Given the description of an element on the screen output the (x, y) to click on. 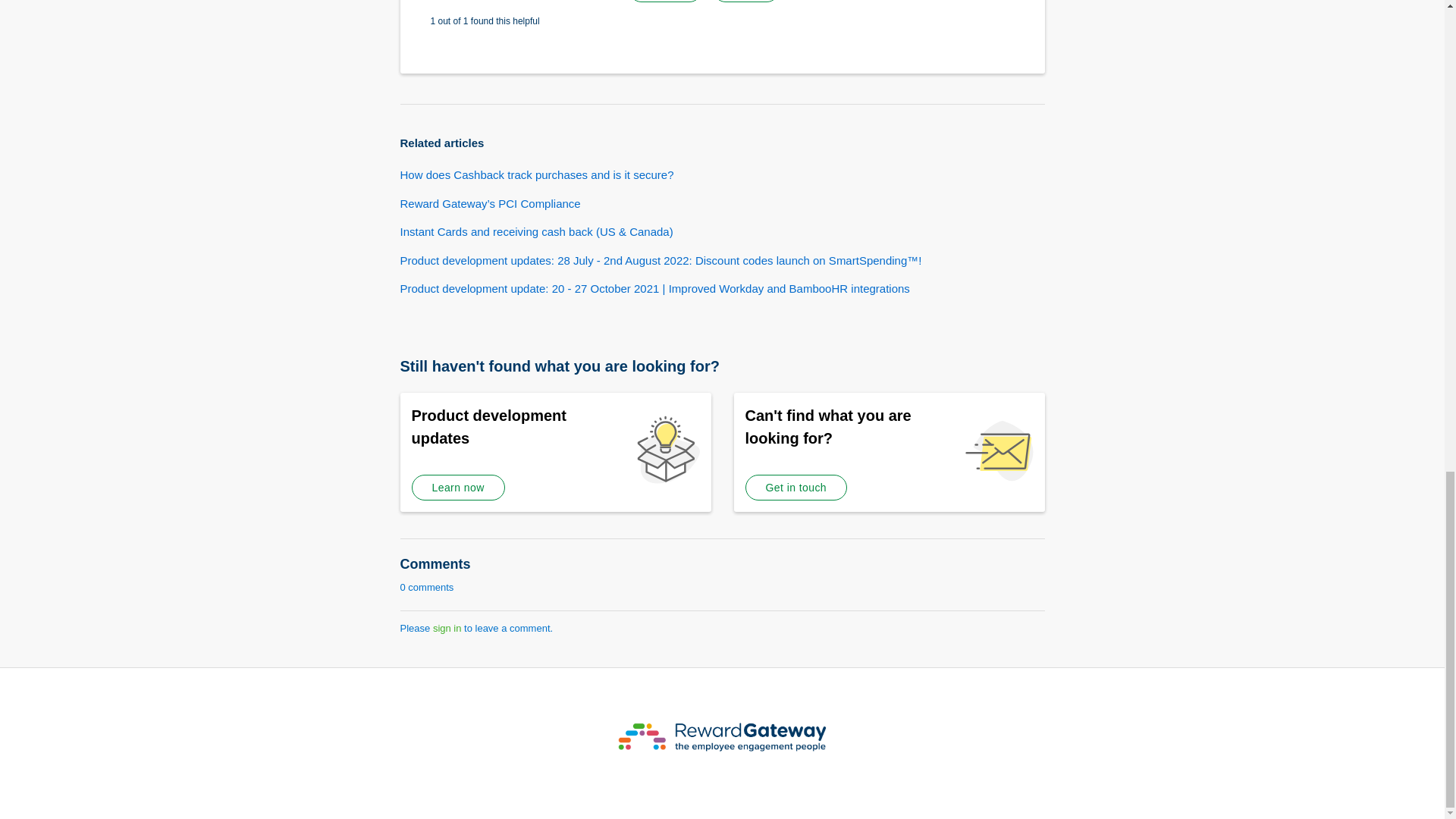
Get in touch (795, 487)
sign in (446, 627)
Learn now (456, 487)
No (745, 1)
How does Cashback track purchases and is it secure? (537, 174)
Yes (664, 1)
